Given the description of an element on the screen output the (x, y) to click on. 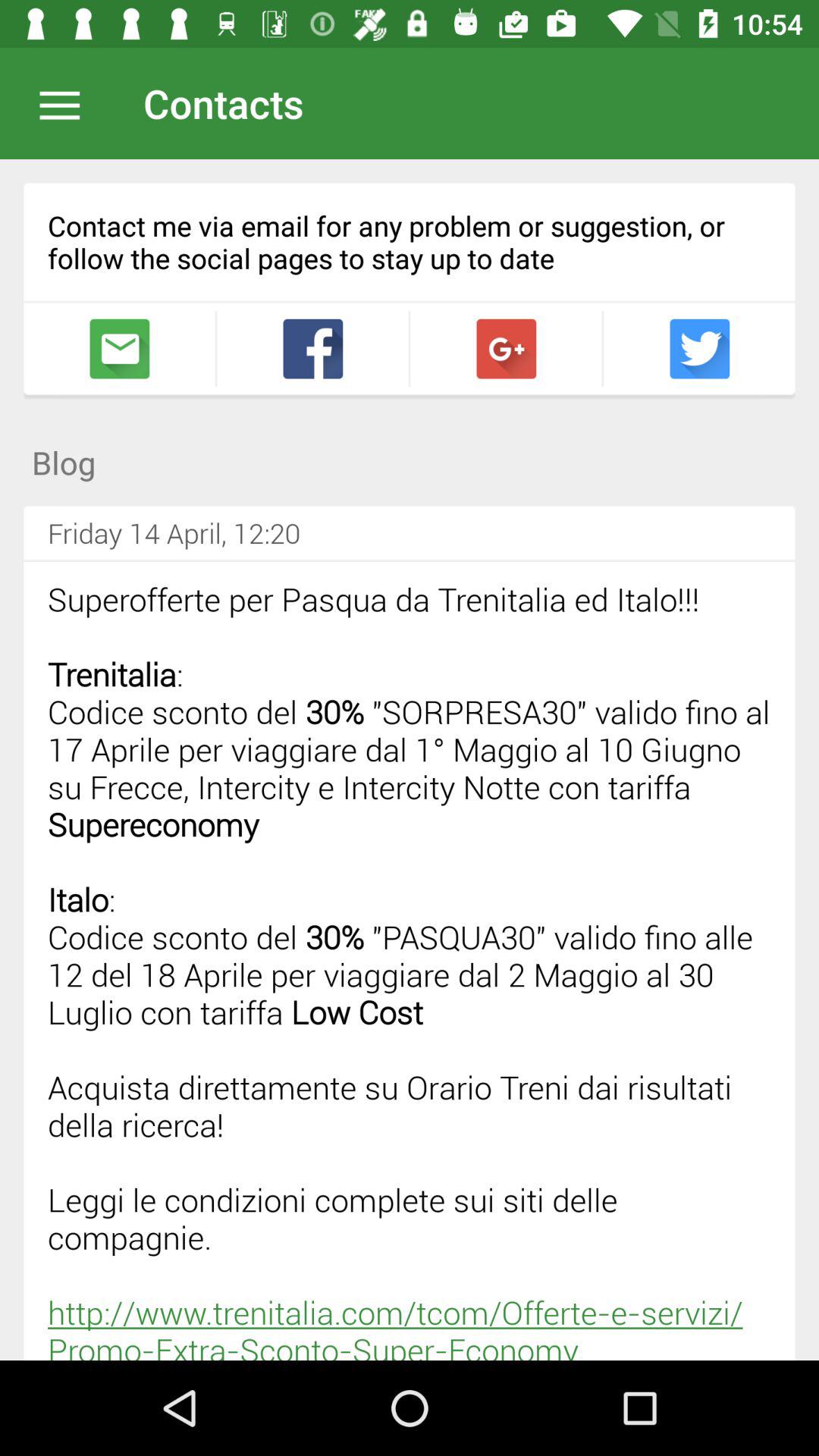
select menu (67, 103)
